Given the description of an element on the screen output the (x, y) to click on. 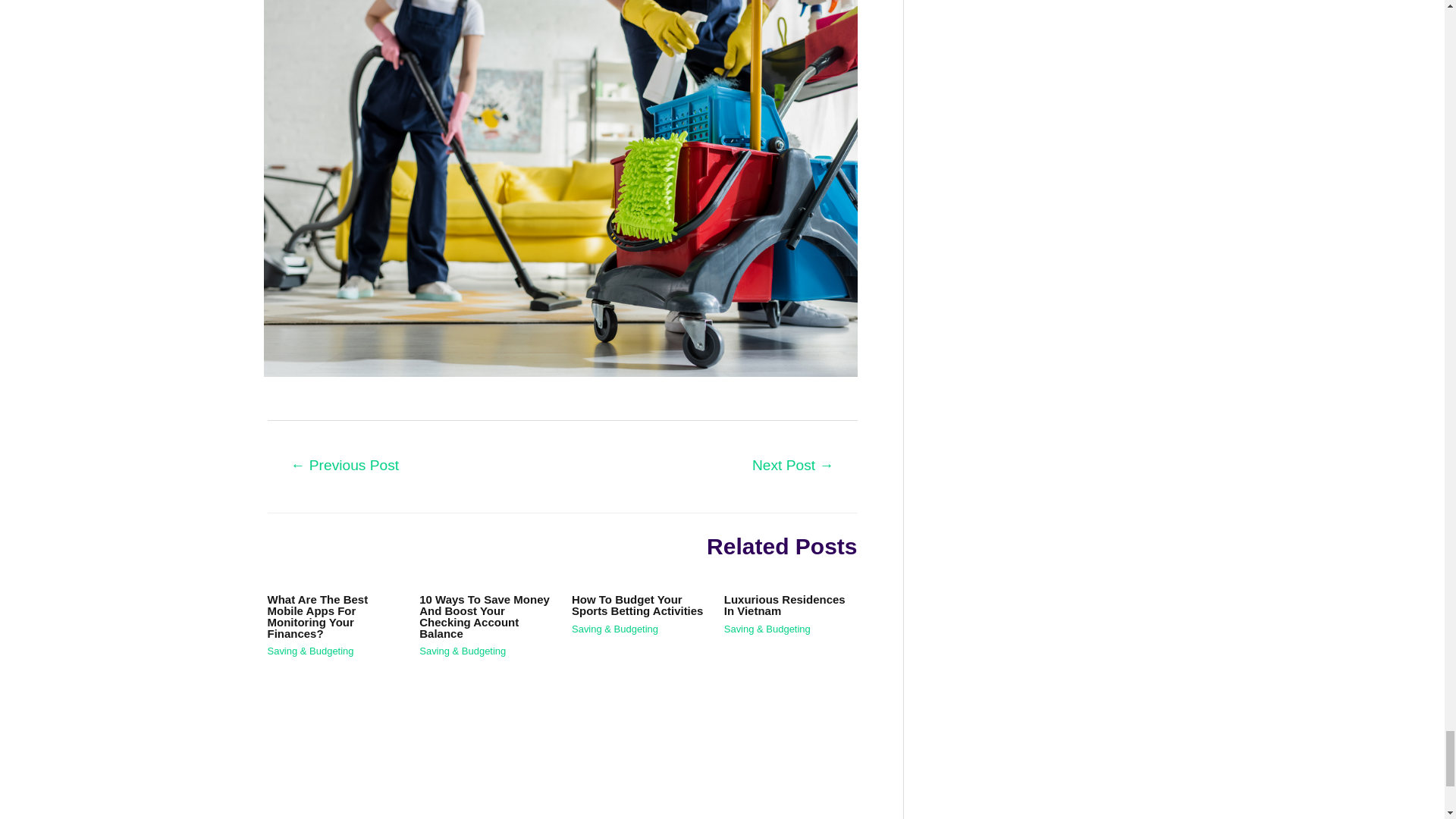
Luxurious Residences In Vietnam (784, 604)
What Are The Best Mobile Apps For Monitoring Your Finances? (317, 615)
How To Budget Your Sports Betting Activities (637, 604)
